Given the description of an element on the screen output the (x, y) to click on. 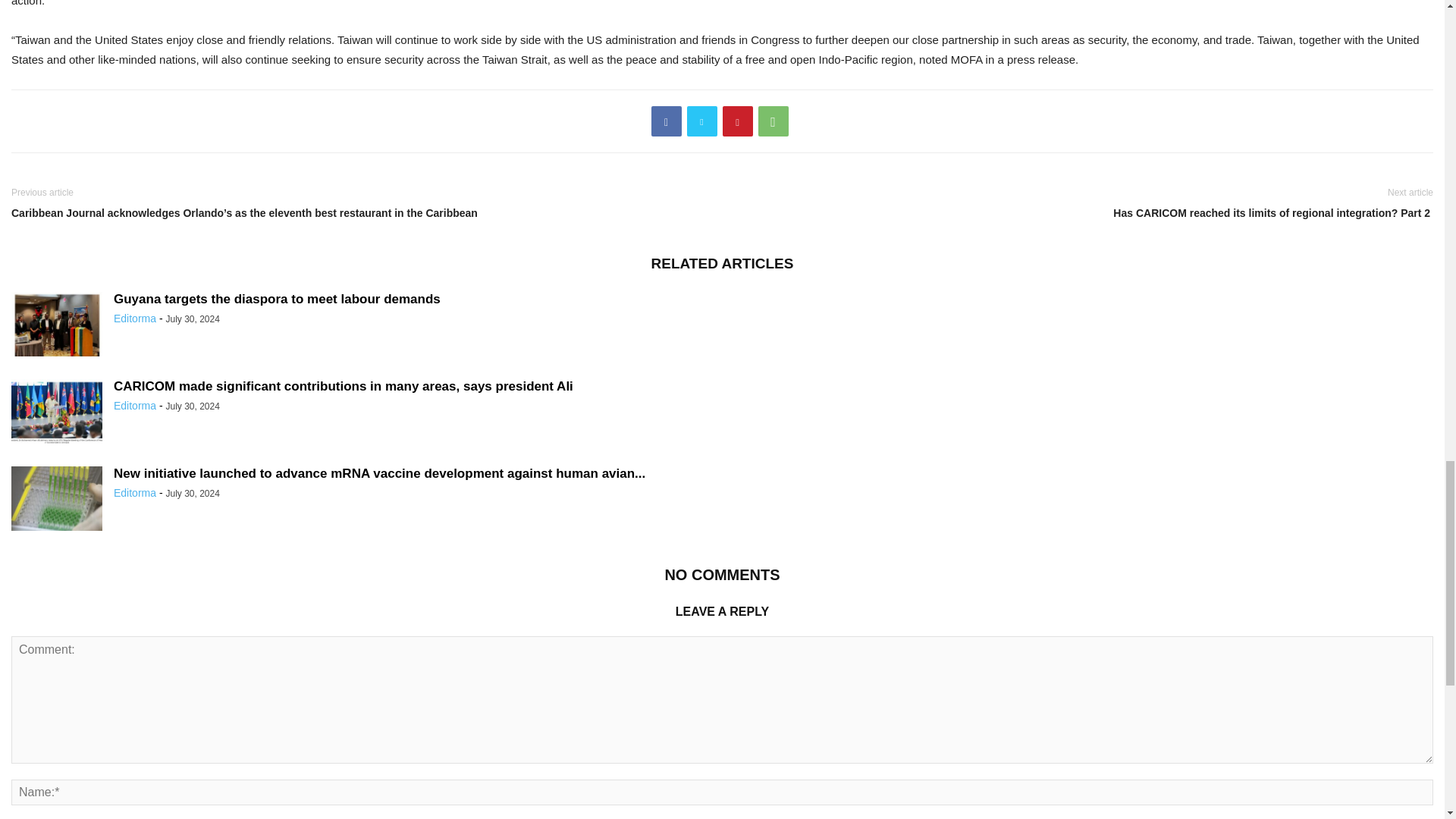
Facebook (665, 121)
Pinterest (737, 121)
Guyana targets the diaspora to meet labour demands (277, 298)
WhatsApp (773, 121)
Guyana targets the diaspora to meet labour demands (56, 325)
Twitter (702, 121)
